Given the description of an element on the screen output the (x, y) to click on. 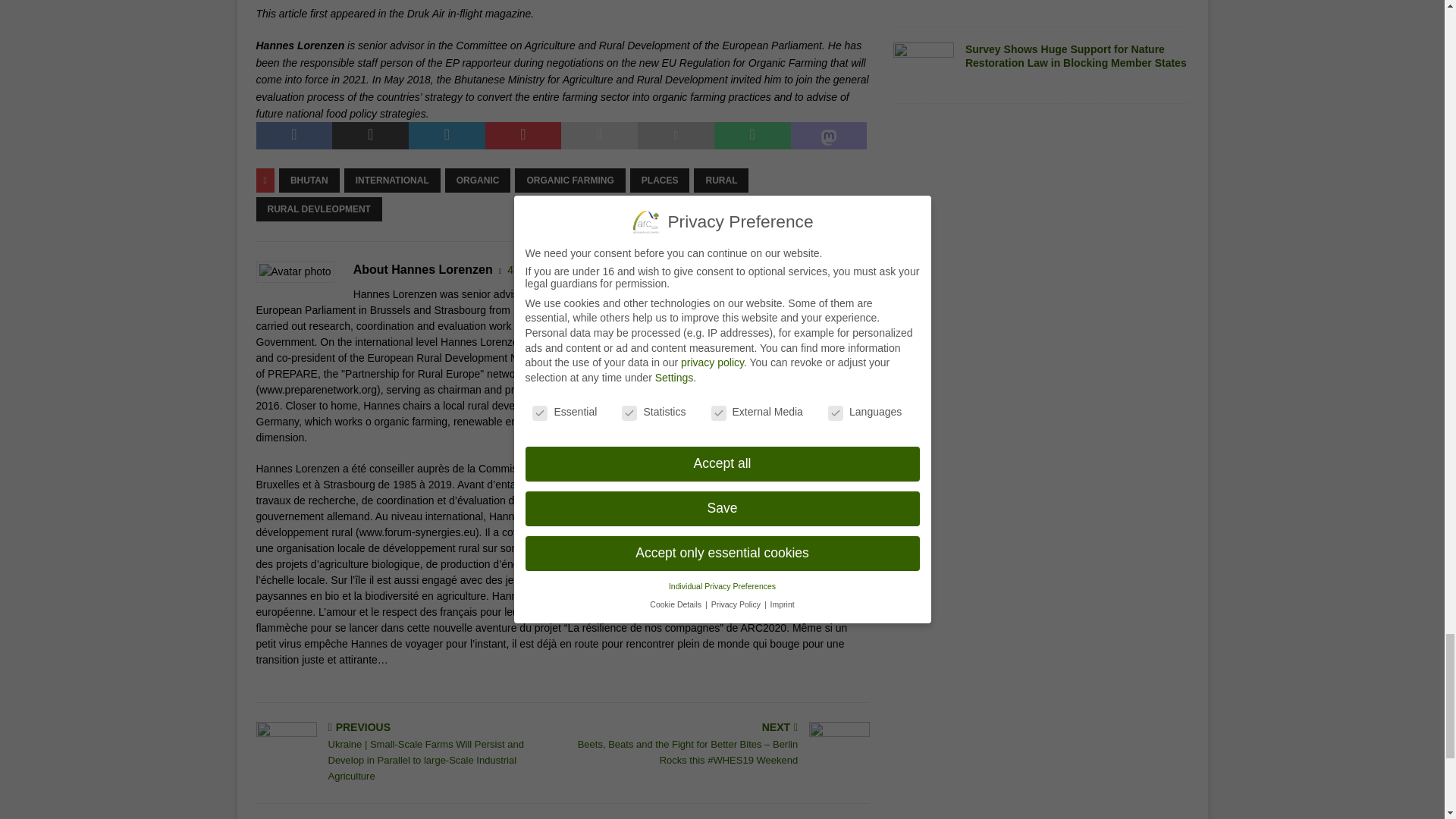
Share on Facebook (294, 135)
Print this article (675, 135)
Share on Whatsapp (752, 135)
Tweet This Post (370, 135)
Pin This Post (523, 135)
Share on LinkedIn (446, 135)
Send this article to a friend (598, 135)
